Given the description of an element on the screen output the (x, y) to click on. 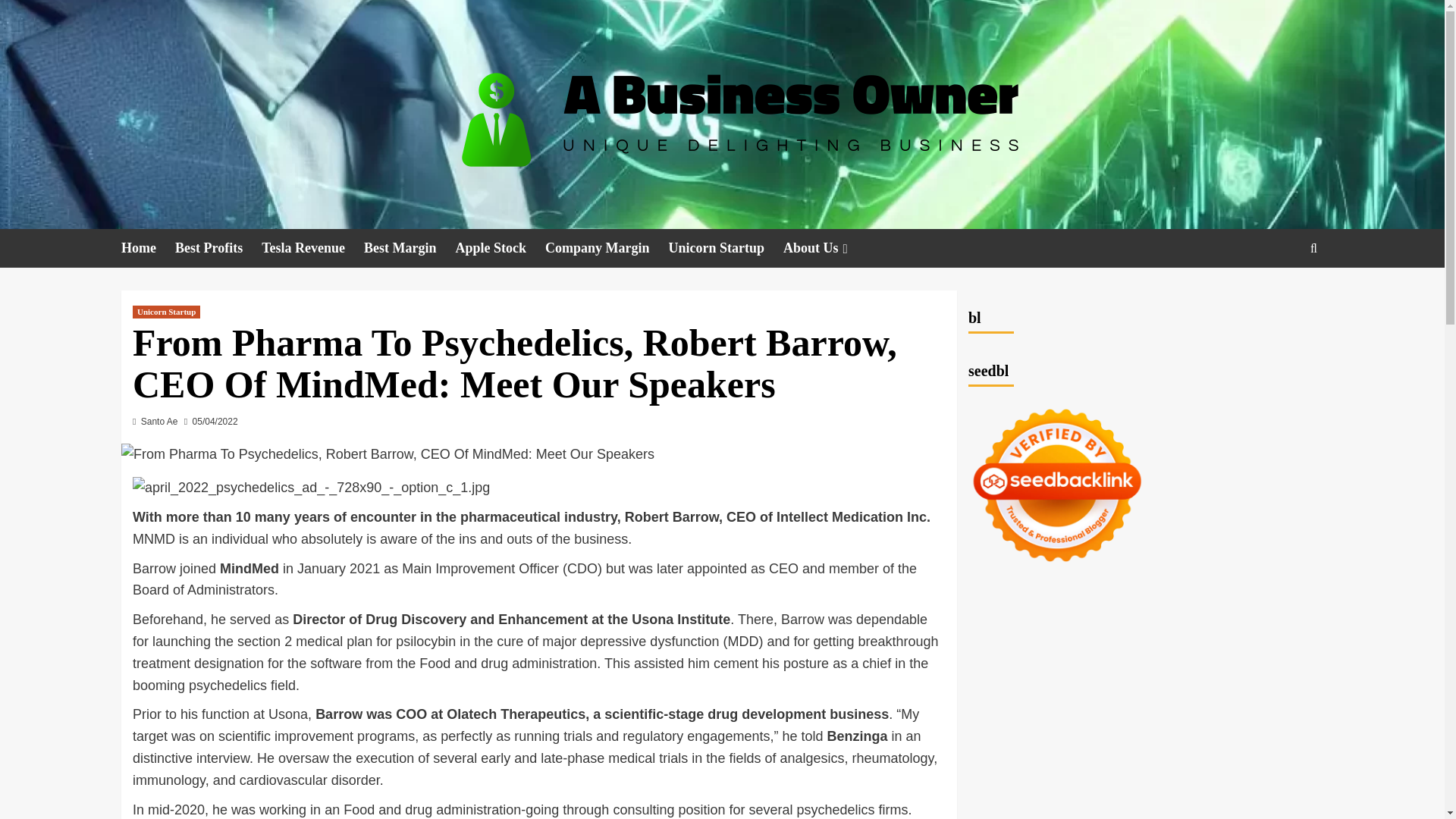
Seedbacklink (1056, 485)
Search (1278, 294)
Unicorn Startup (166, 311)
Company Margin (606, 248)
Santo Ae (159, 421)
Home (147, 248)
Apple Stock (499, 248)
Best Margin (409, 248)
Tesla Revenue (313, 248)
Unicorn Startup (726, 248)
Best Profits (218, 248)
About Us (826, 248)
